Given the description of an element on the screen output the (x, y) to click on. 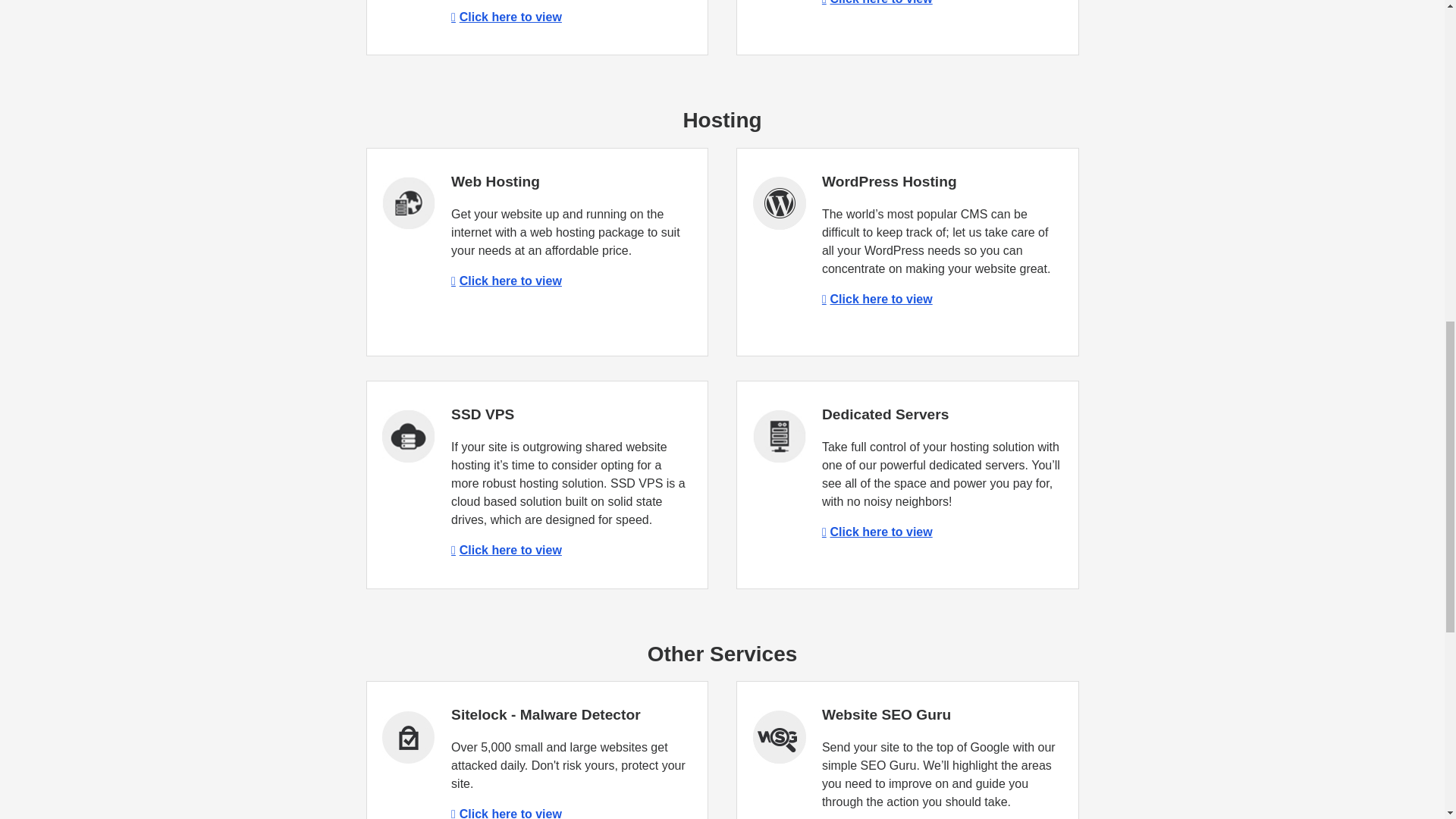
Click here to view (877, 298)
Click here to view (506, 549)
Click here to view (877, 531)
Click here to view (506, 280)
Click here to view (877, 2)
Click here to view (506, 16)
Click here to view (506, 813)
